Given the description of an element on the screen output the (x, y) to click on. 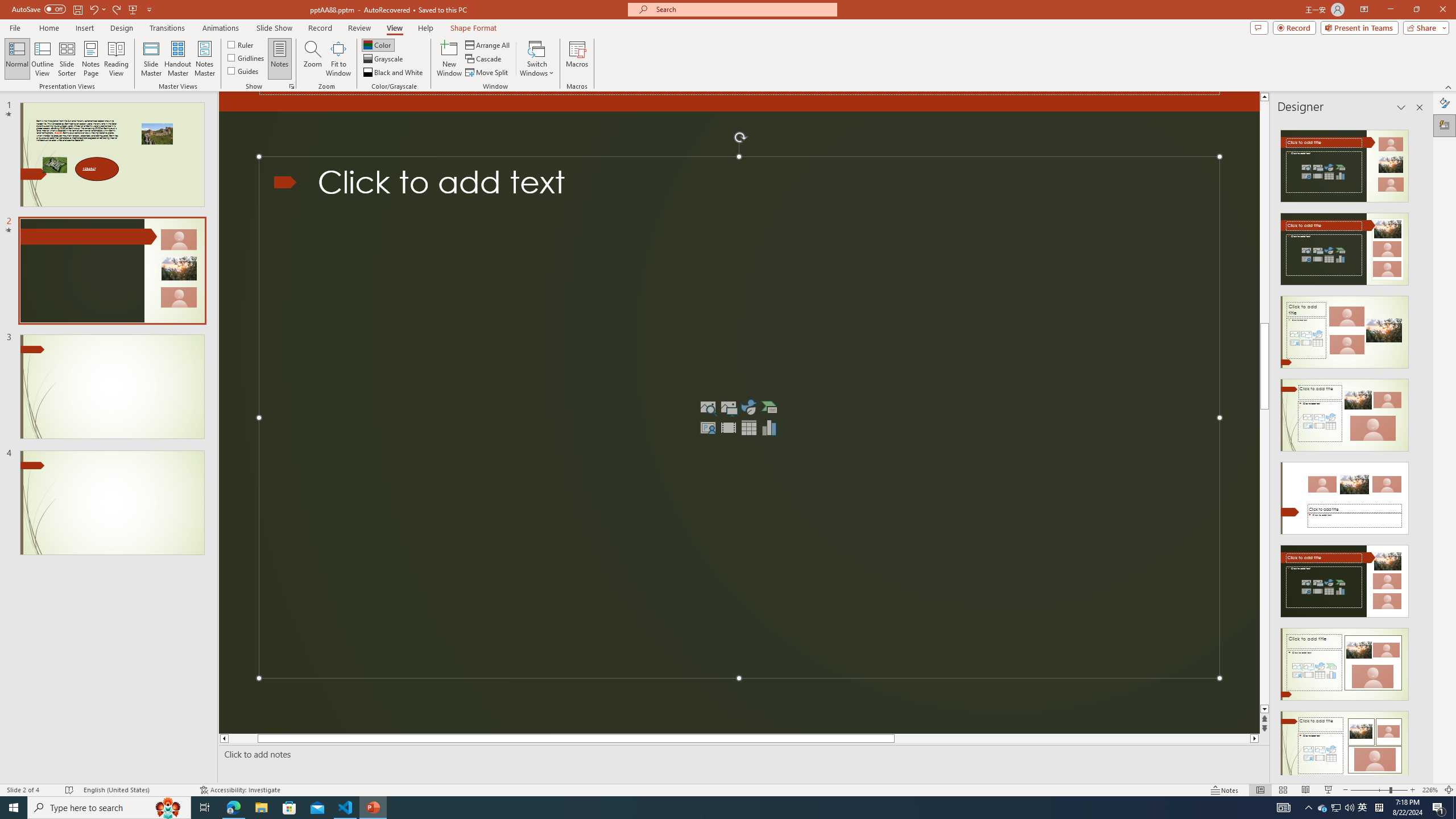
Insert Video (728, 427)
Insert a SmartArt Graphic (769, 407)
Notes Master (204, 58)
Cascade (484, 58)
Handout Master (177, 58)
Class: NetUIScrollBar (1418, 447)
